Given the description of an element on the screen output the (x, y) to click on. 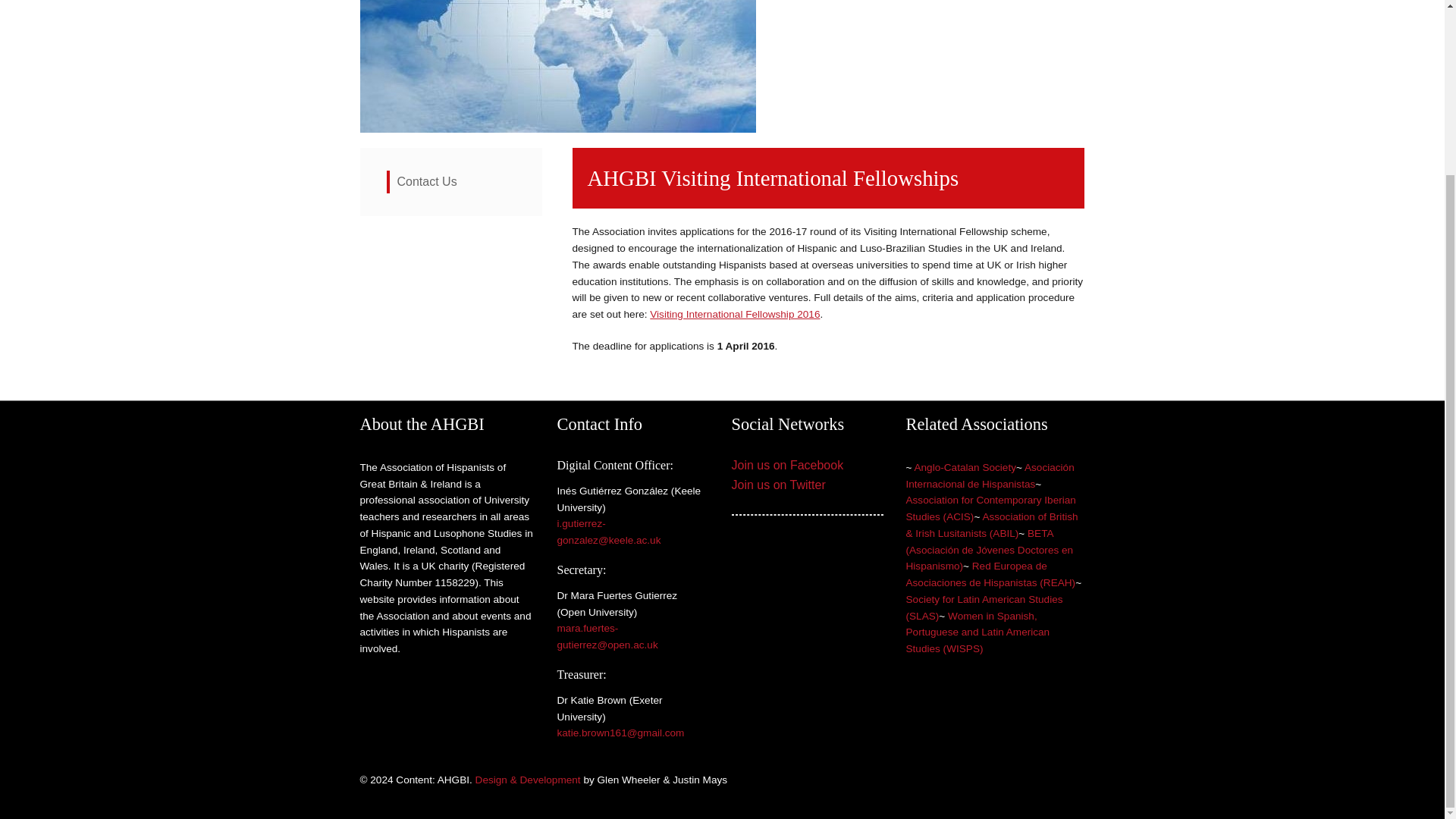
Join us on Twitter (777, 484)
Visiting International Fellowship 2016 (734, 314)
Join us on Facebook (786, 464)
Contact Us (427, 181)
Anglo-Catalan Society (965, 467)
